Given the description of an element on the screen output the (x, y) to click on. 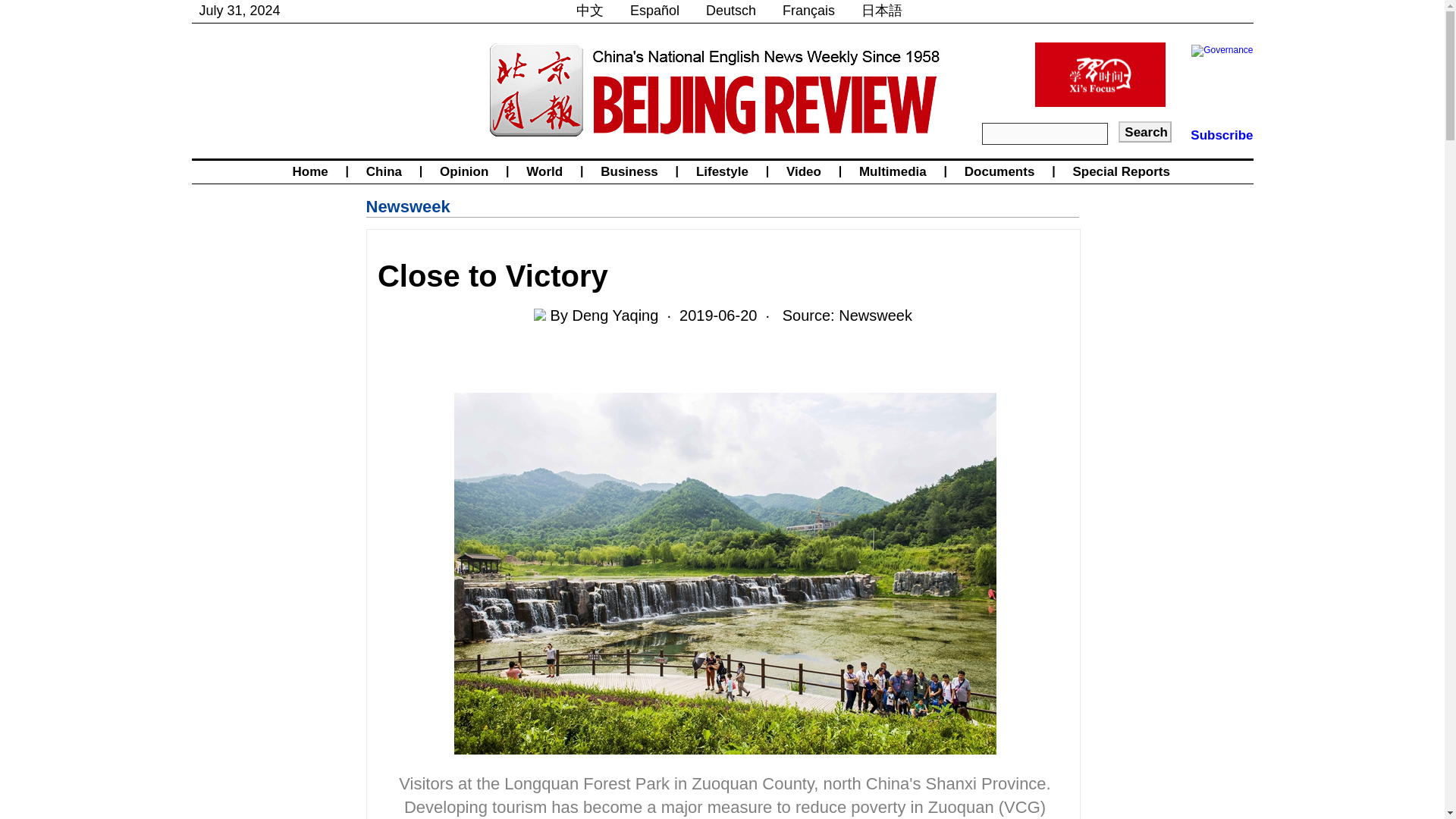
Search (1145, 131)
Home (309, 171)
China (384, 171)
Deutsch (730, 10)
Video (804, 171)
Subscribe (1221, 134)
Newsweek (407, 206)
Lifestyle (722, 171)
Search (1145, 131)
Business (629, 171)
World (544, 171)
Opinion (463, 171)
